Given the description of an element on the screen output the (x, y) to click on. 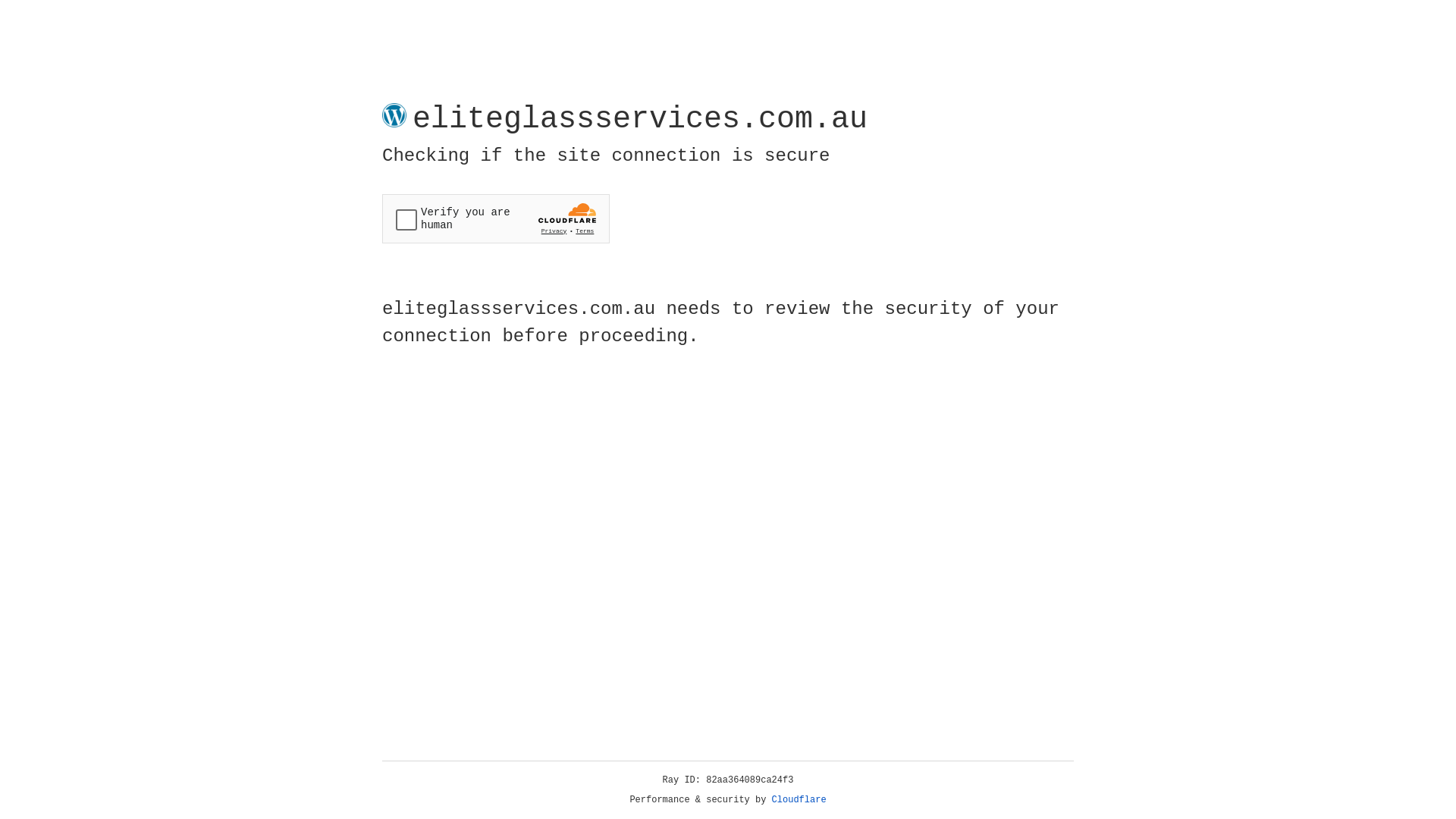
Cloudflare Element type: text (798, 799)
Widget containing a Cloudflare security challenge Element type: hover (495, 218)
